Given the description of an element on the screen output the (x, y) to click on. 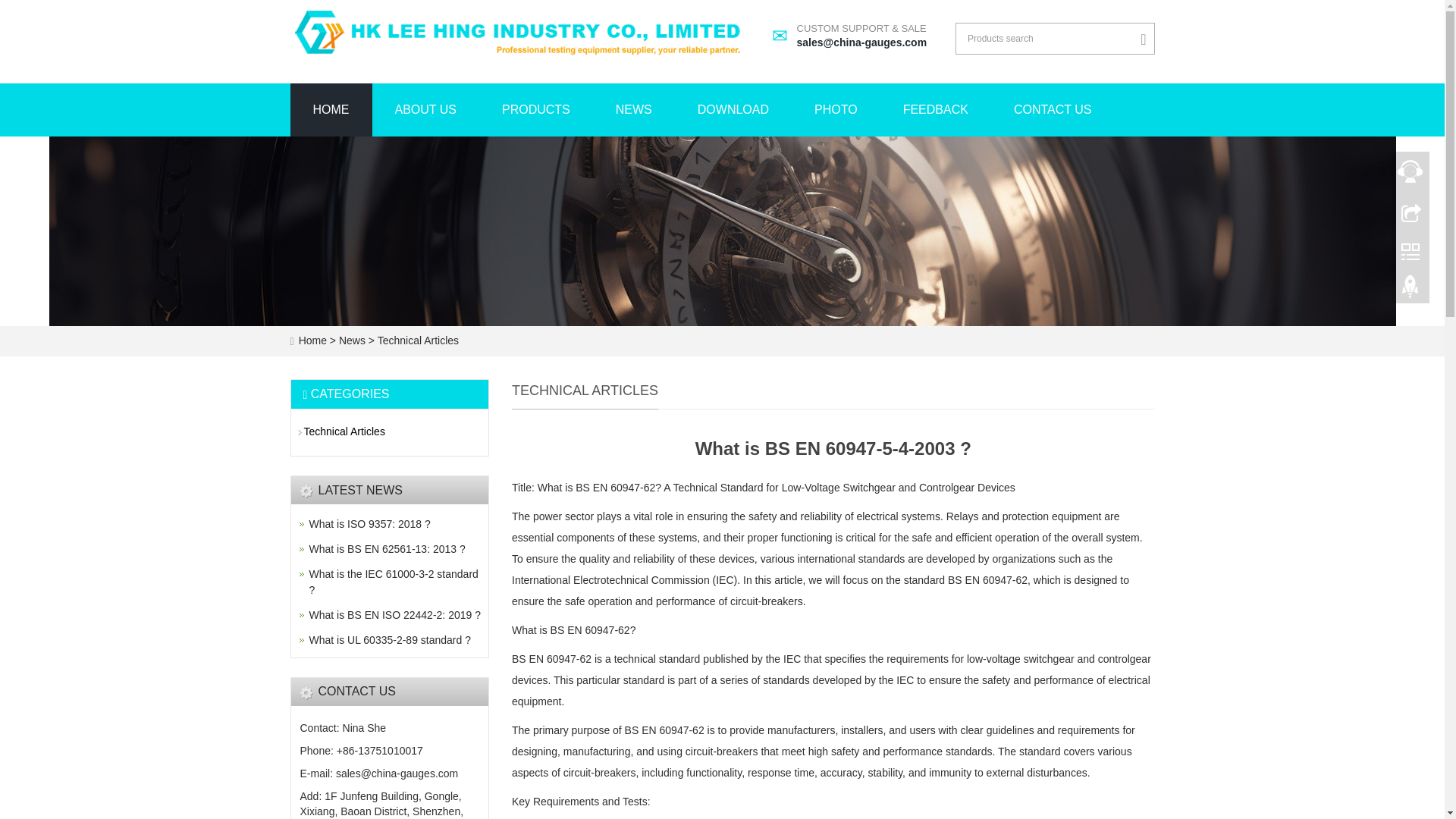
CONTACT US (369, 523)
NEWS (1053, 109)
HOME (633, 109)
News (386, 548)
Home (330, 109)
PRODUCTS (389, 639)
